Given the description of an element on the screen output the (x, y) to click on. 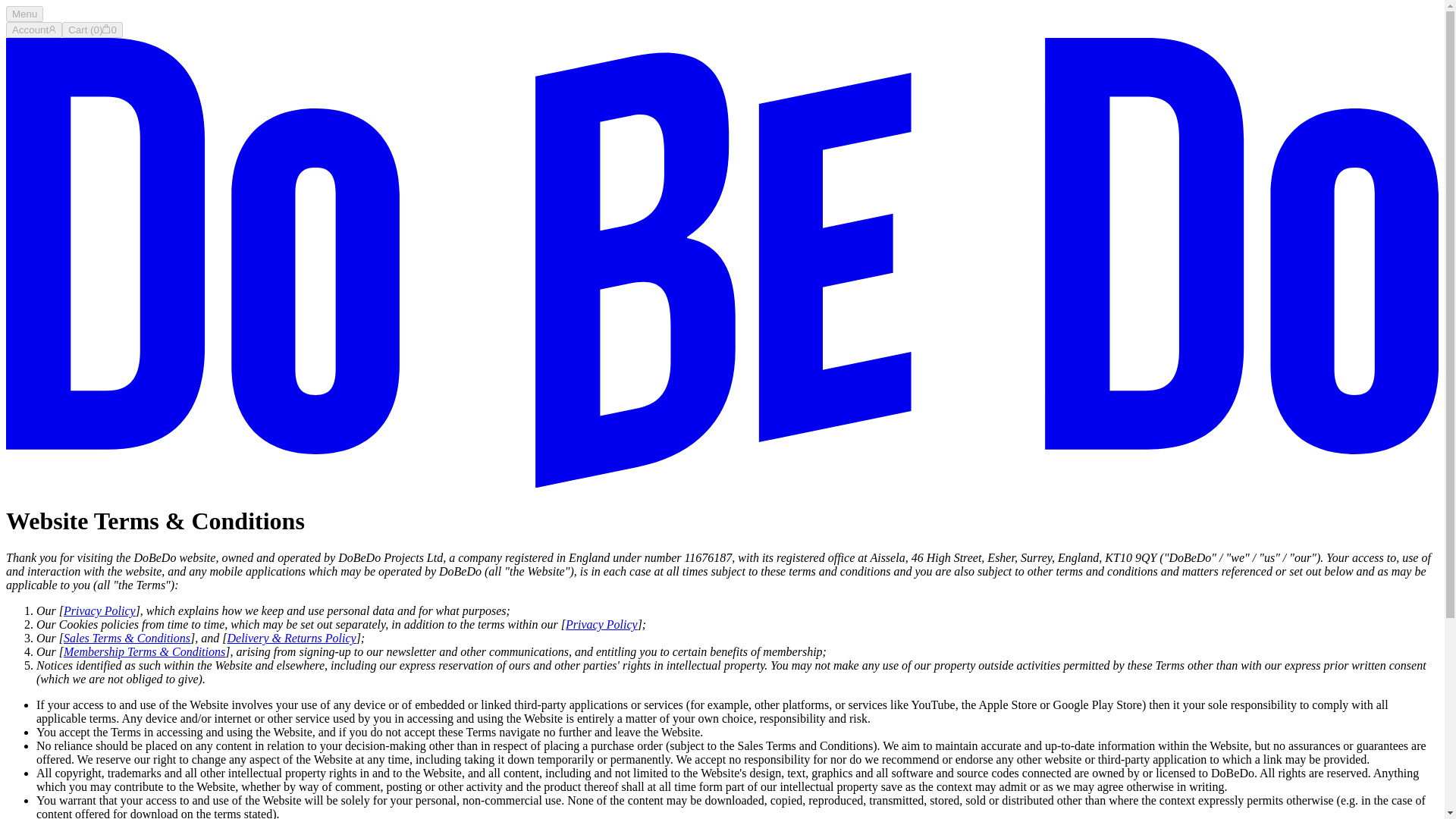
Privacy Policy (99, 610)
Account (33, 29)
Menu (24, 13)
Privacy Policy (601, 624)
